Given the description of an element on the screen output the (x, y) to click on. 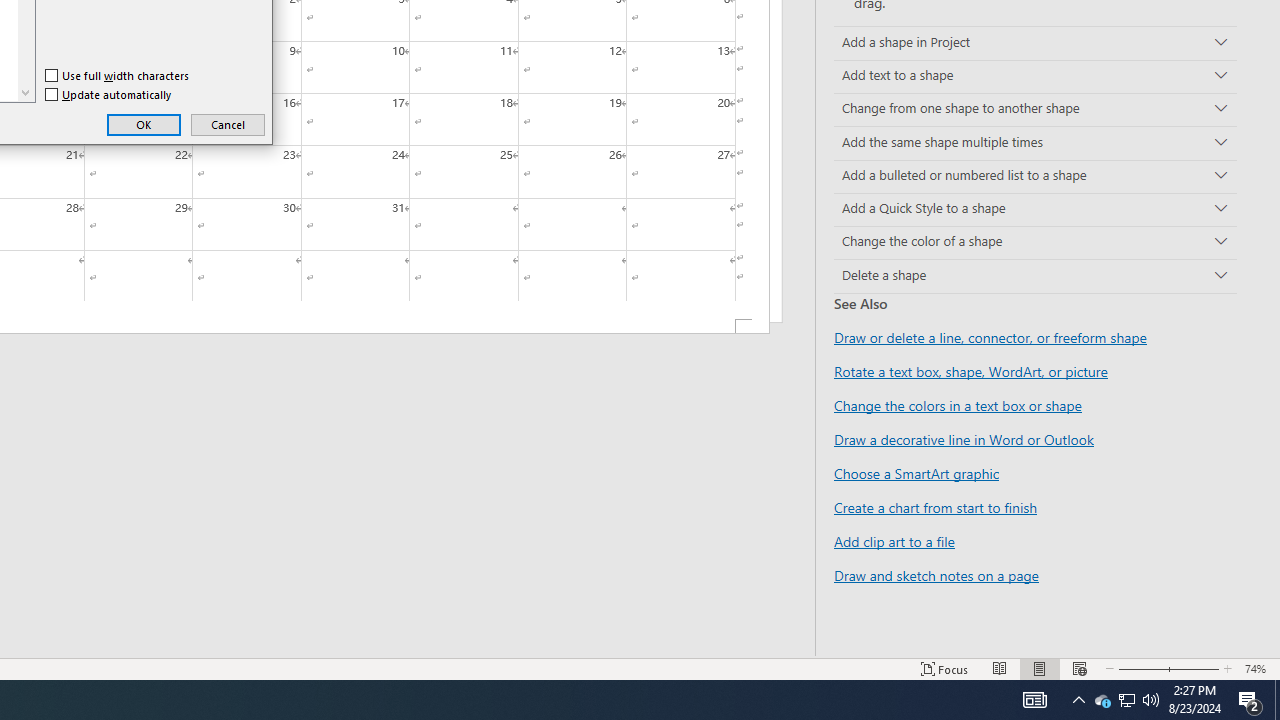
Change the colors in a text box or shape (957, 405)
Change the color of a shape (1126, 699)
Add clip art to a file (1035, 242)
Draw or delete a line, connector, or freeform shape (894, 541)
Line down (990, 337)
Action Center, 2 new notifications (25, 92)
Draw and sketch notes on a page (1250, 699)
Add the same shape multiple times (936, 574)
